Given the description of an element on the screen output the (x, y) to click on. 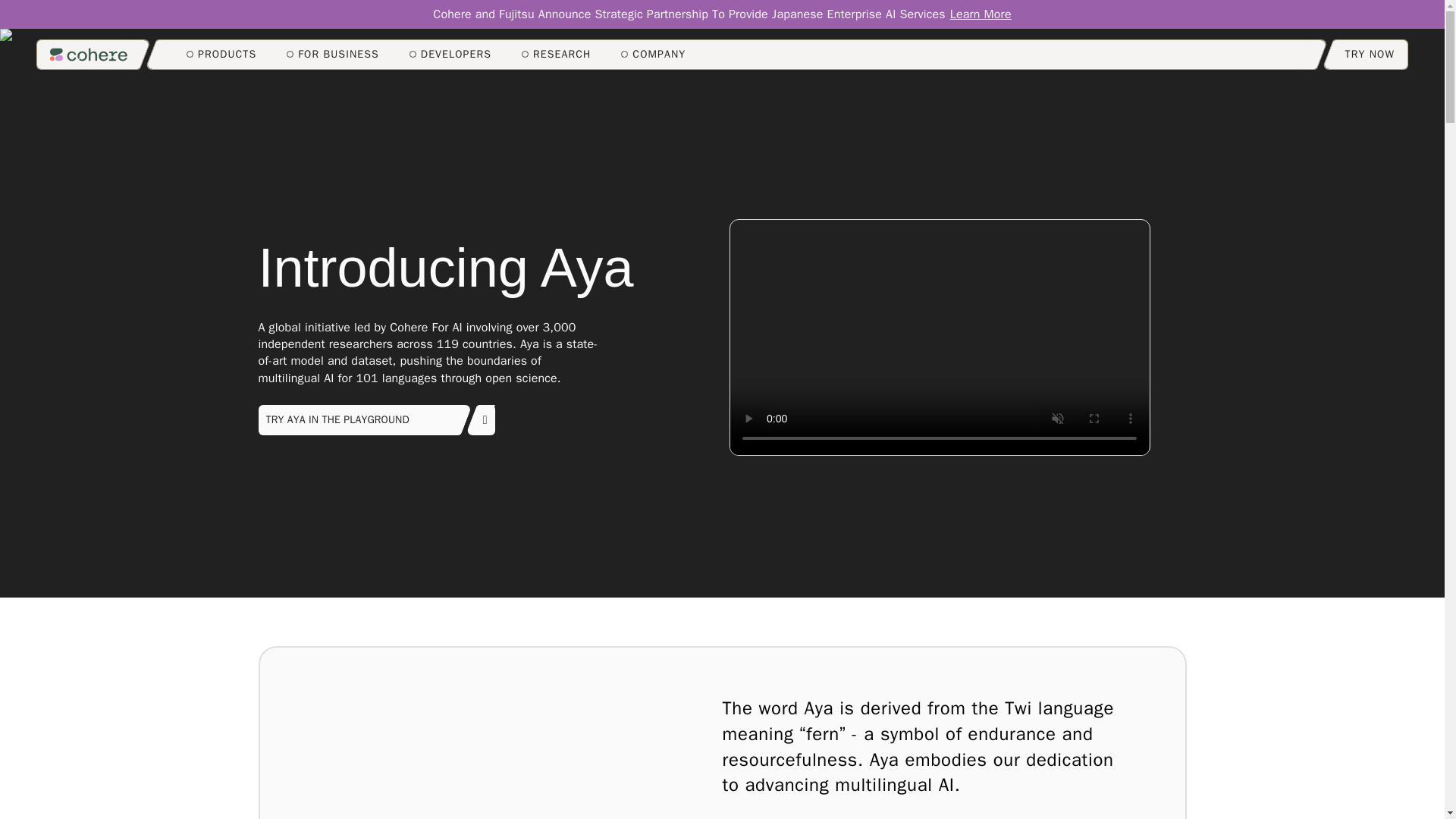
FOR BUSINESS (332, 54)
RESEARCH (556, 54)
TRY NOW (1370, 54)
Learn More (980, 13)
PRODUCTS (221, 54)
DEVELOPERS (450, 54)
COMPANY (653, 54)
TRY AYA IN THE PLAYGROUND (376, 419)
